Given the description of an element on the screen output the (x, y) to click on. 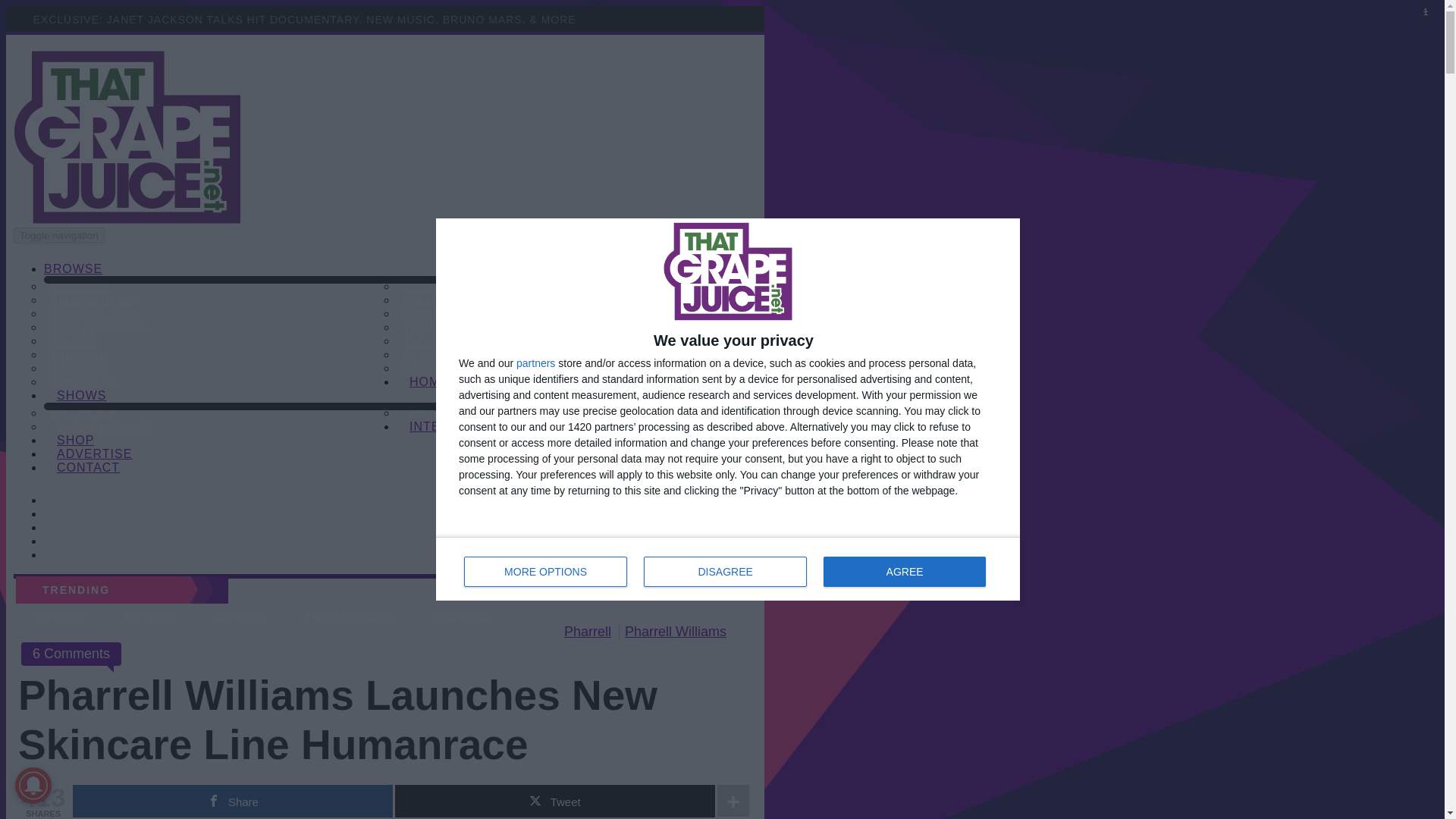
REVIEWS (74, 341)
SHOP (75, 444)
MORE OPTIONS (545, 571)
ARCHIVES (430, 369)
ABOUT TGJ (79, 287)
THE SPLASH (436, 341)
View all posts in Ice Spice (240, 616)
SHOWS (81, 399)
partners (535, 362)
CONTACT US (84, 382)
Toggle navigation (58, 235)
THE WORD (79, 355)
AGREE (904, 571)
DISAGREE (724, 571)
FRESHLY SQUEEZED (457, 300)
